Given the description of an element on the screen output the (x, y) to click on. 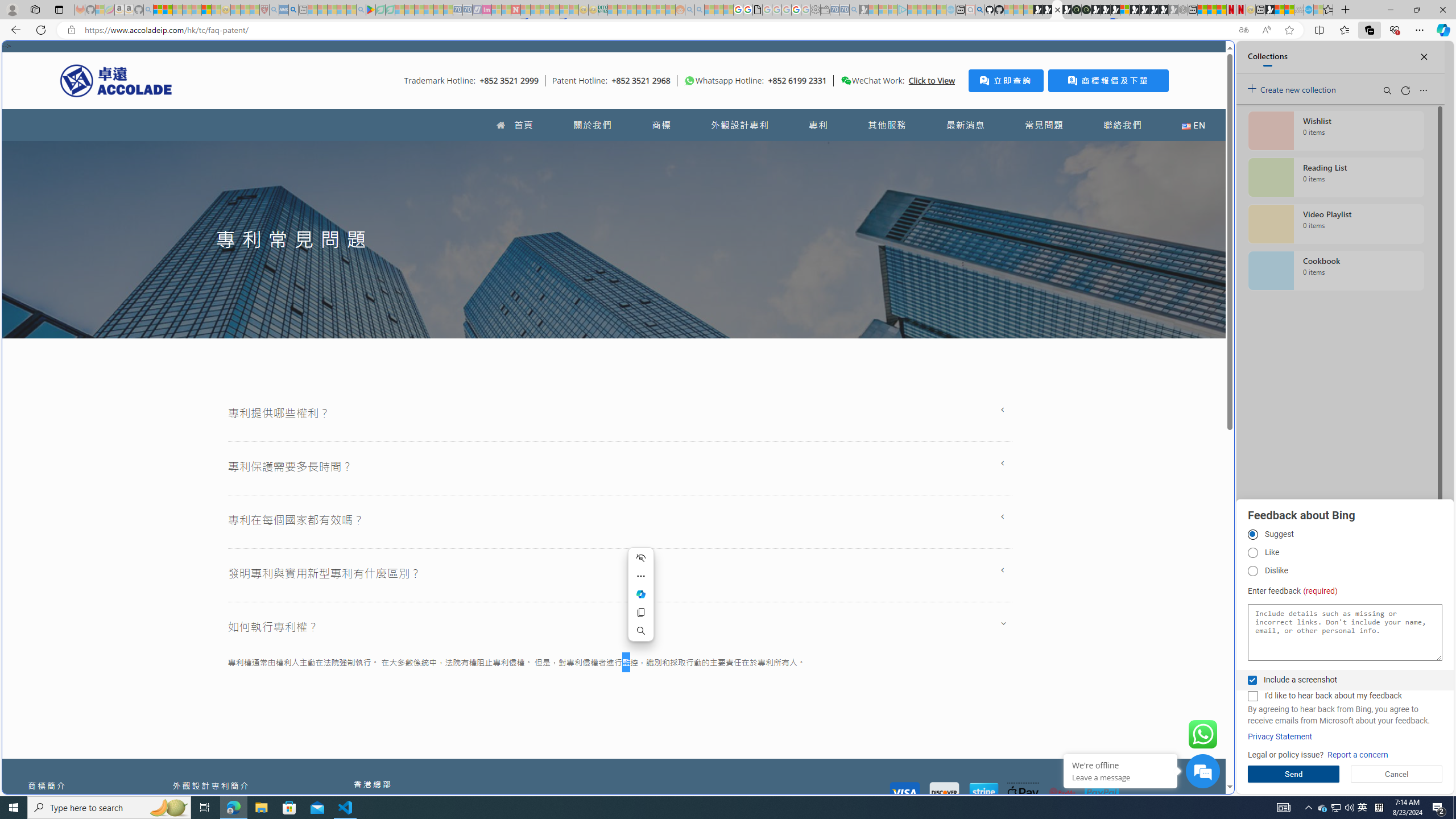
Utah sues federal government - Search - Sleeping (699, 9)
google_privacy_policy_zh-CN.pdf (1118, 683)
Bing Real Estate - Home sales and rental listings - Sleeping (853, 9)
The Weather Channel - MSN - Sleeping (177, 9)
Settings - Sleeping (815, 9)
